Given the description of an element on the screen output the (x, y) to click on. 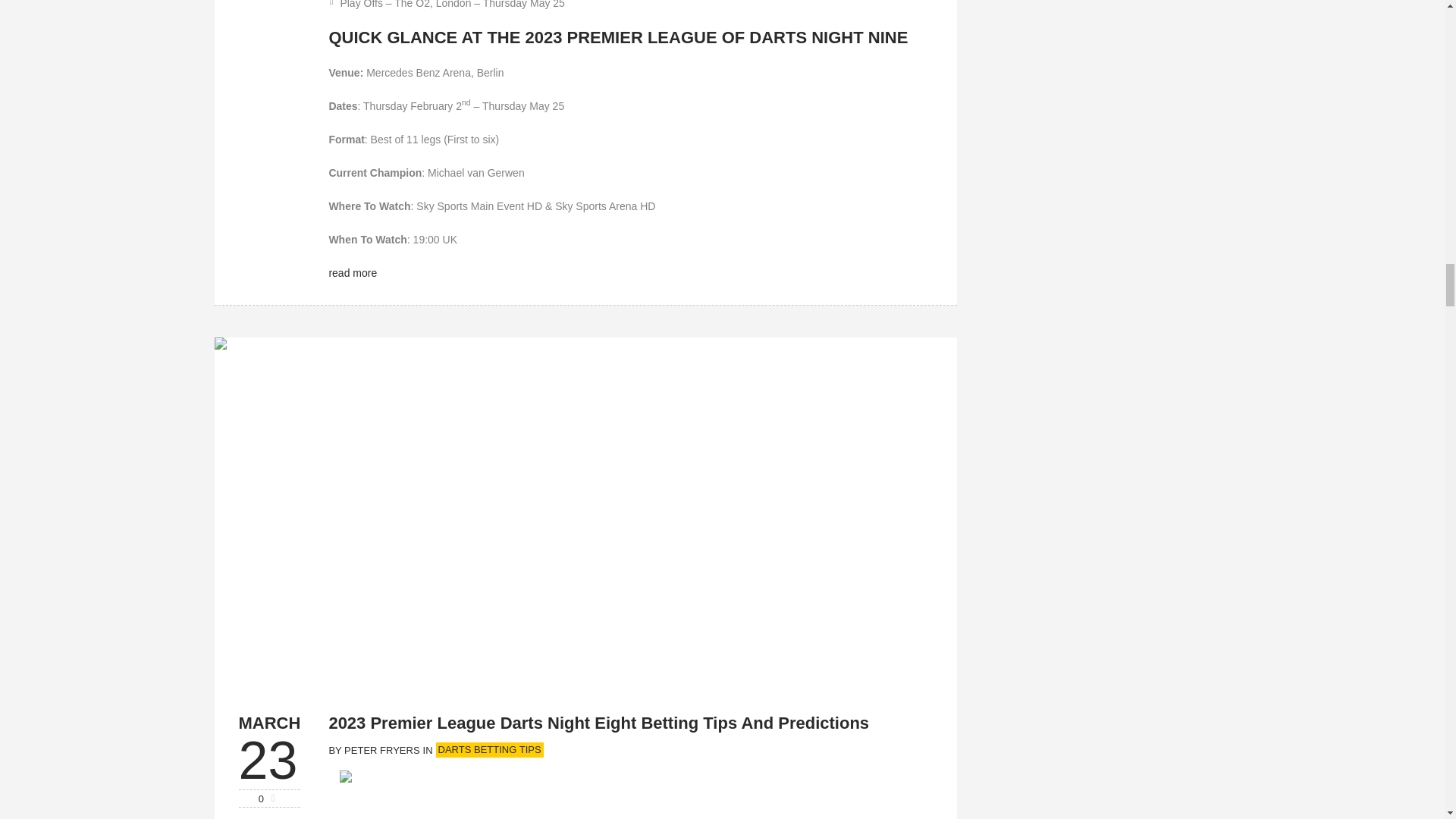
read more (353, 272)
PETER FRYERS (381, 750)
March 23, 2023 (268, 760)
March 23, 2023 (268, 722)
0 (270, 797)
DARTS BETTING TIPS (489, 749)
Posts by Peter Fryers (381, 750)
